Given the description of an element on the screen output the (x, y) to click on. 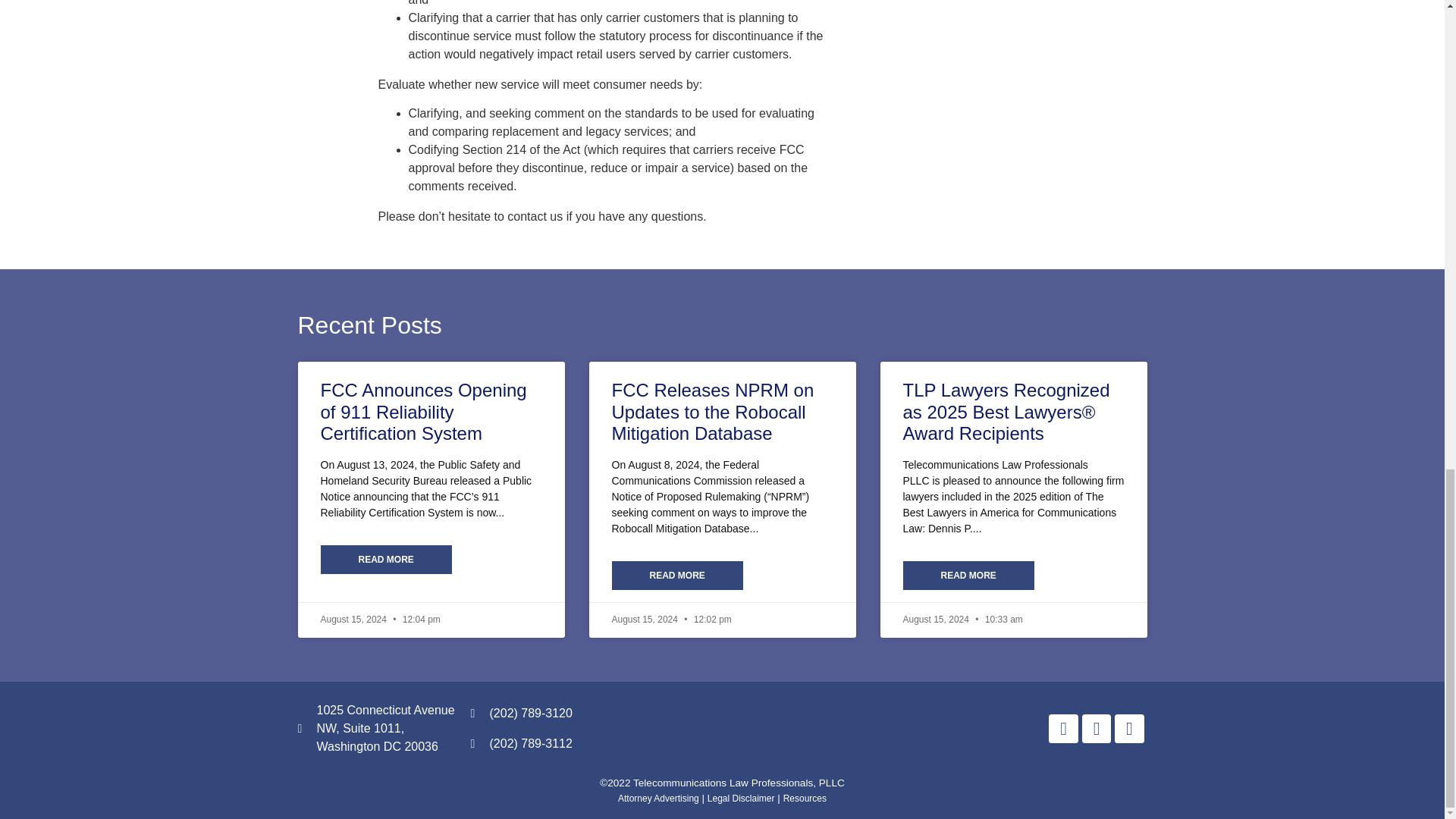
READ MORE (967, 575)
READ MORE (385, 559)
Attorney Advertising (657, 799)
1025 Connecticut Avenue NW, Suite 1011, Washington DC 20036 (375, 728)
Legal Disclaimer (740, 799)
READ MORE (676, 575)
Resources (805, 799)
